Given the description of an element on the screen output the (x, y) to click on. 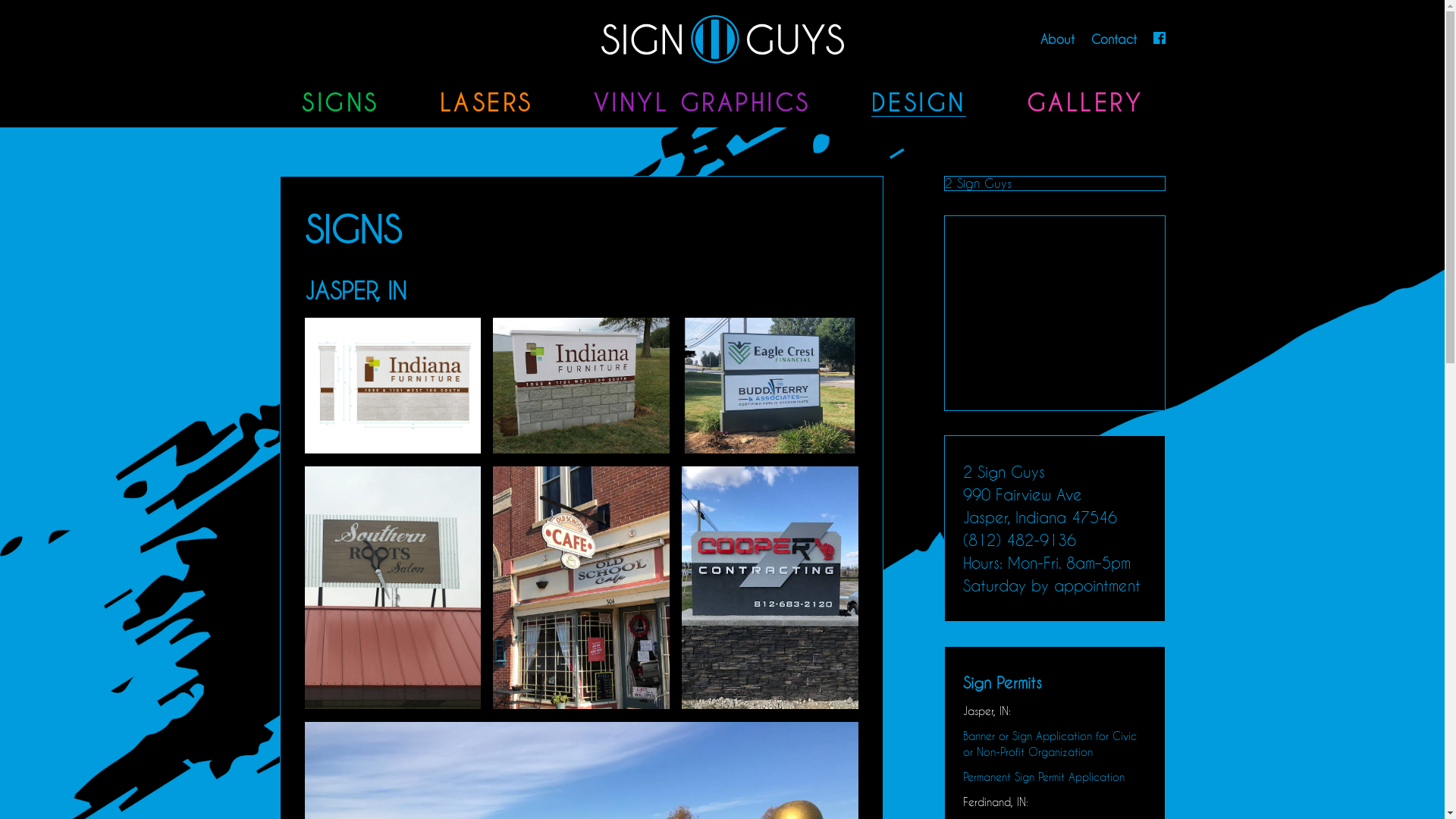
LASERS Element type: text (486, 102)
VINYL GRAPHICS Element type: text (701, 102)
Facebook Element type: hover (1158, 38)
DESIGN Element type: text (917, 102)
About Element type: text (1057, 39)
2 Sign Guys Element type: text (977, 183)
Contact Element type: text (1112, 39)
Permanent Sign Permit Application Element type: text (1043, 777)
SIGNS Element type: text (340, 102)
GALLERY Element type: text (1084, 102)
2 Sign Guys Element type: hover (721, 39)
